Given the description of an element on the screen output the (x, y) to click on. 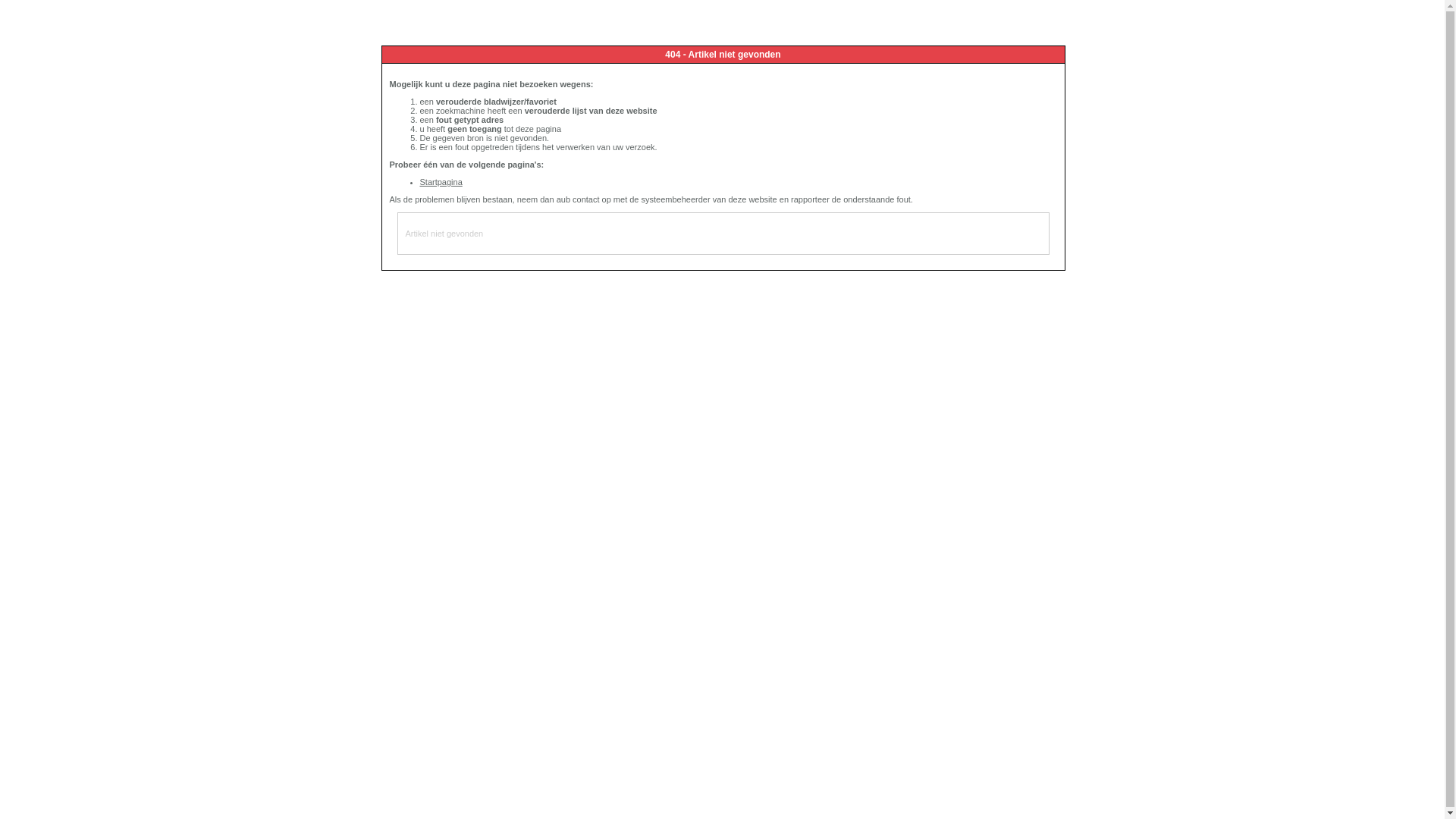
Startpagina Element type: text (441, 181)
